Given the description of an element on the screen output the (x, y) to click on. 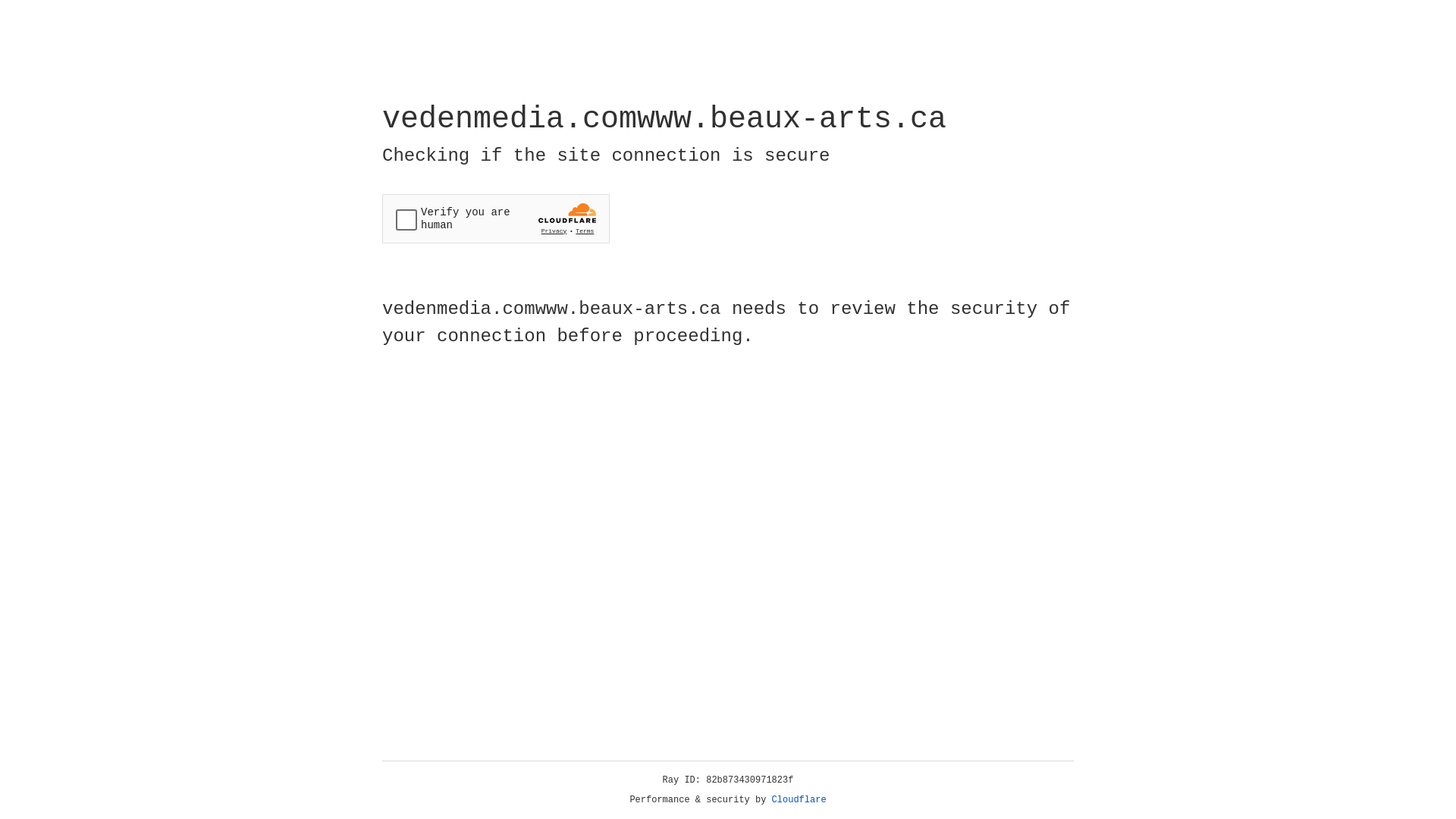
Widget containing a Cloudflare security challenge Element type: hover (495, 218)
Cloudflare Element type: text (798, 799)
